Given the description of an element on the screen output the (x, y) to click on. 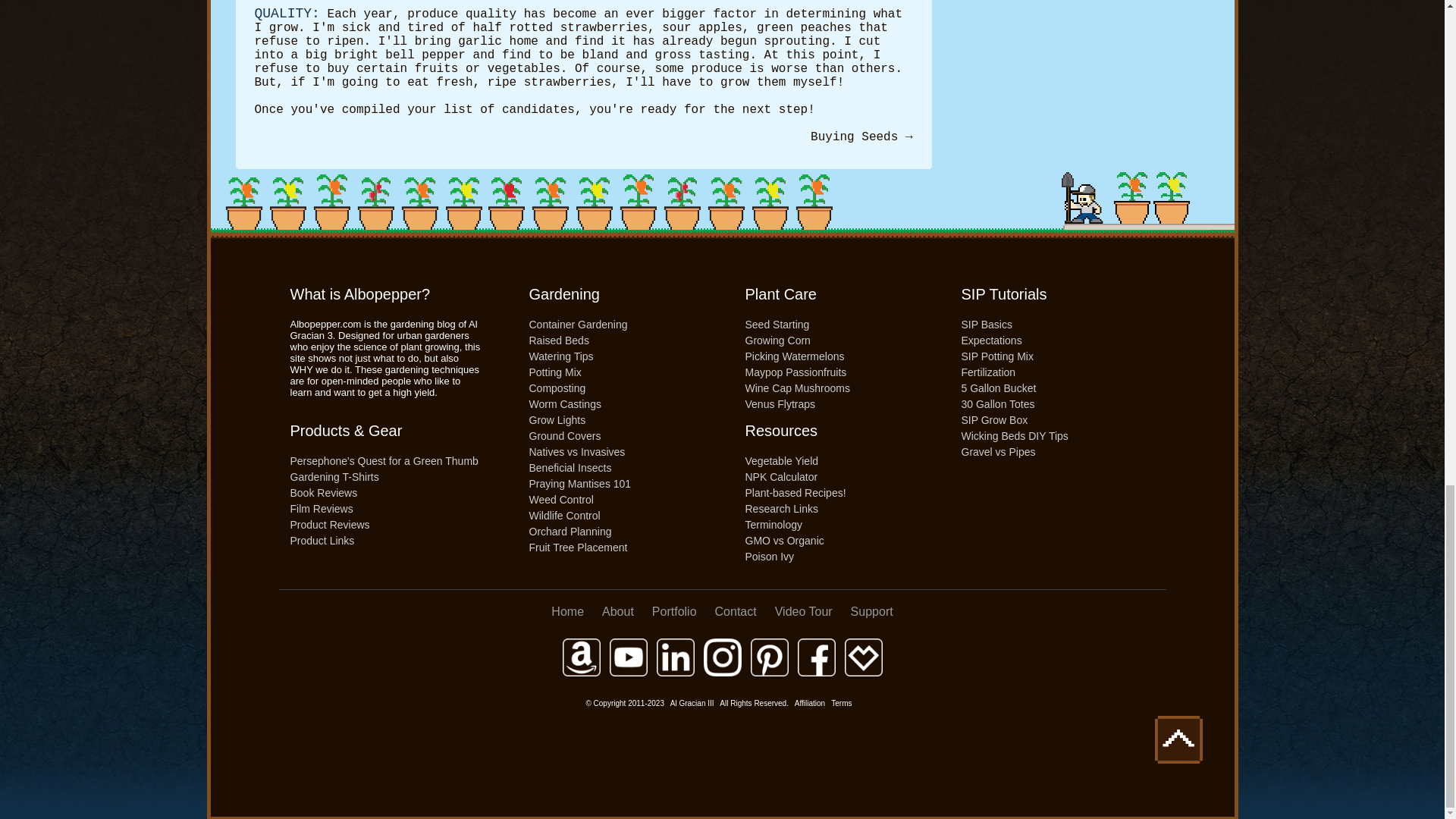
YouTube Channel (628, 656)
Amazon Storefront (581, 656)
